Given the description of an element on the screen output the (x, y) to click on. 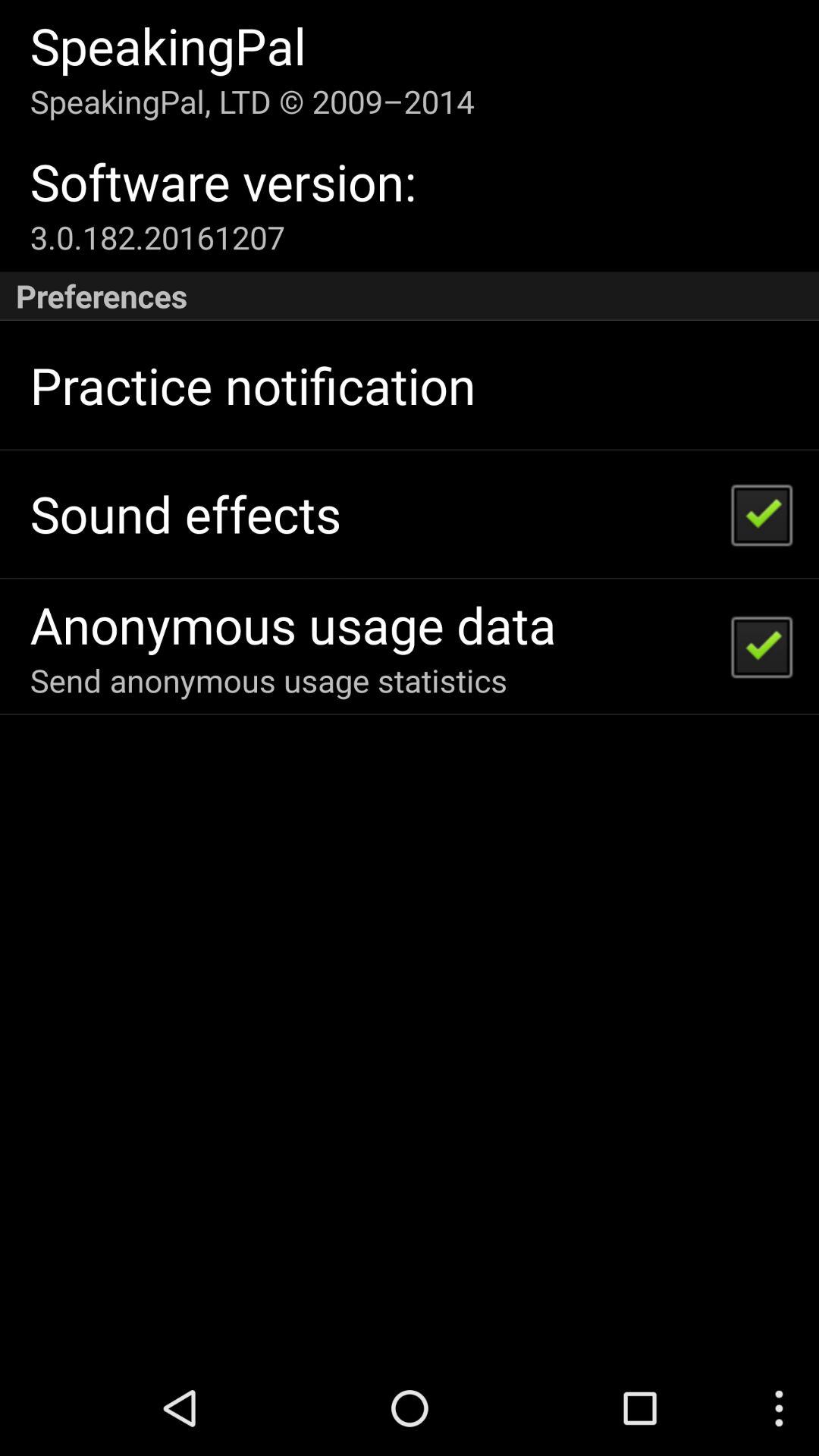
swipe until software version: app (223, 181)
